Given the description of an element on the screen output the (x, y) to click on. 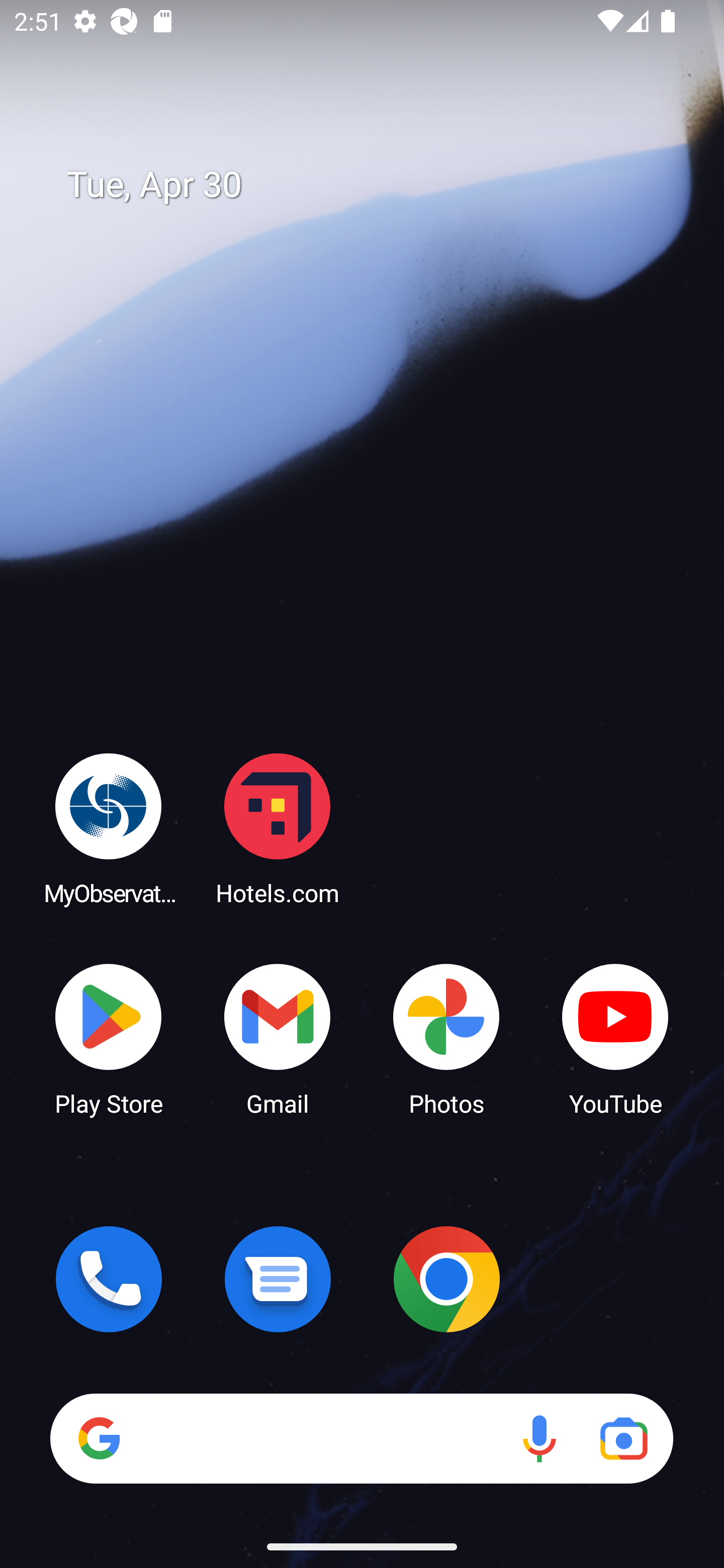
Tue, Apr 30 (375, 184)
MyObservatory (108, 828)
Hotels.com (277, 828)
Play Store (108, 1038)
Gmail (277, 1038)
Photos (445, 1038)
YouTube (615, 1038)
Phone (108, 1279)
Messages (277, 1279)
Chrome (446, 1279)
Voice search (539, 1438)
Google Lens (623, 1438)
